Given the description of an element on the screen output the (x, y) to click on. 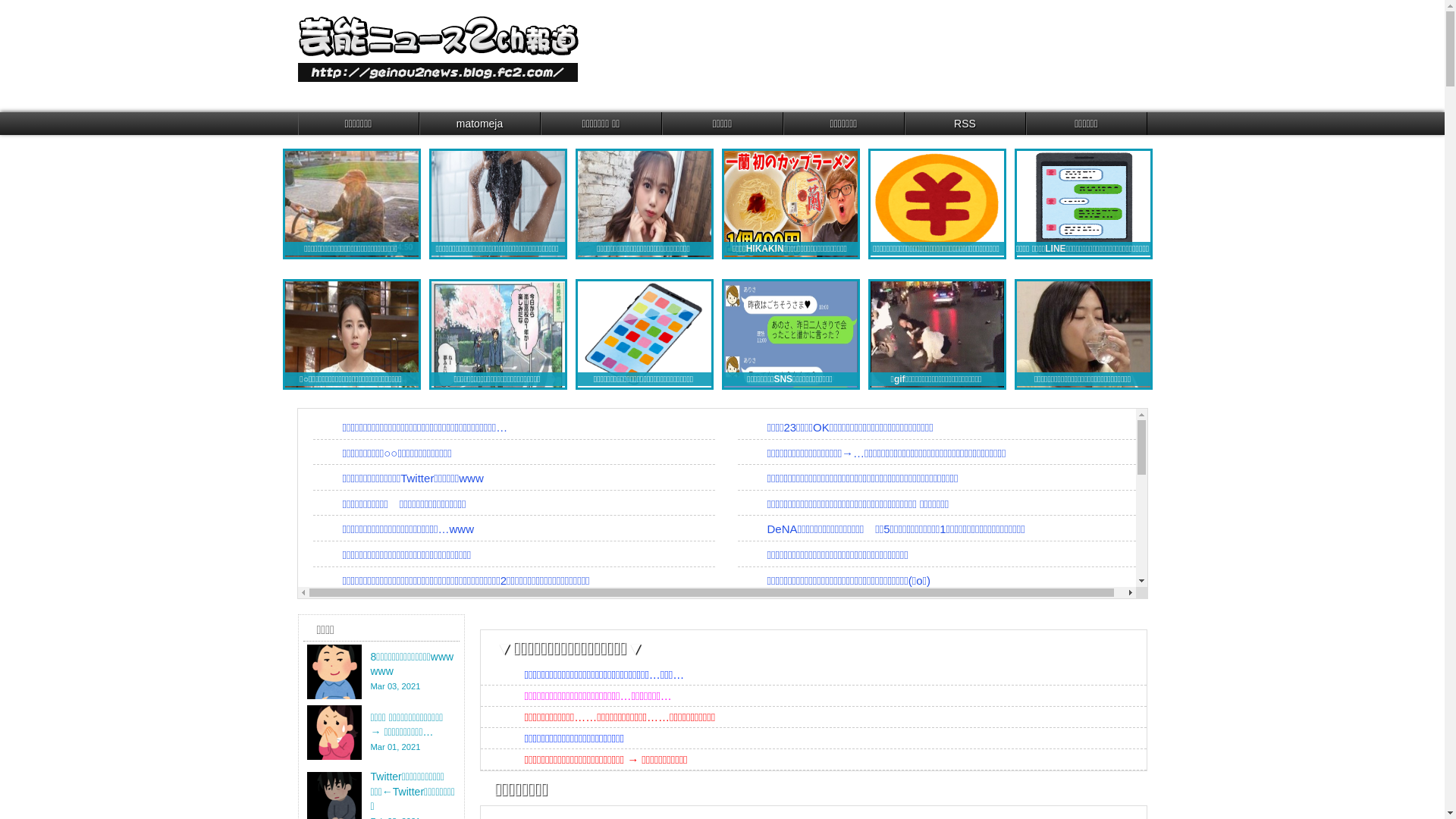
RSS Element type: text (965, 123)
matomeja Element type: text (479, 123)
